Given the description of an element on the screen output the (x, y) to click on. 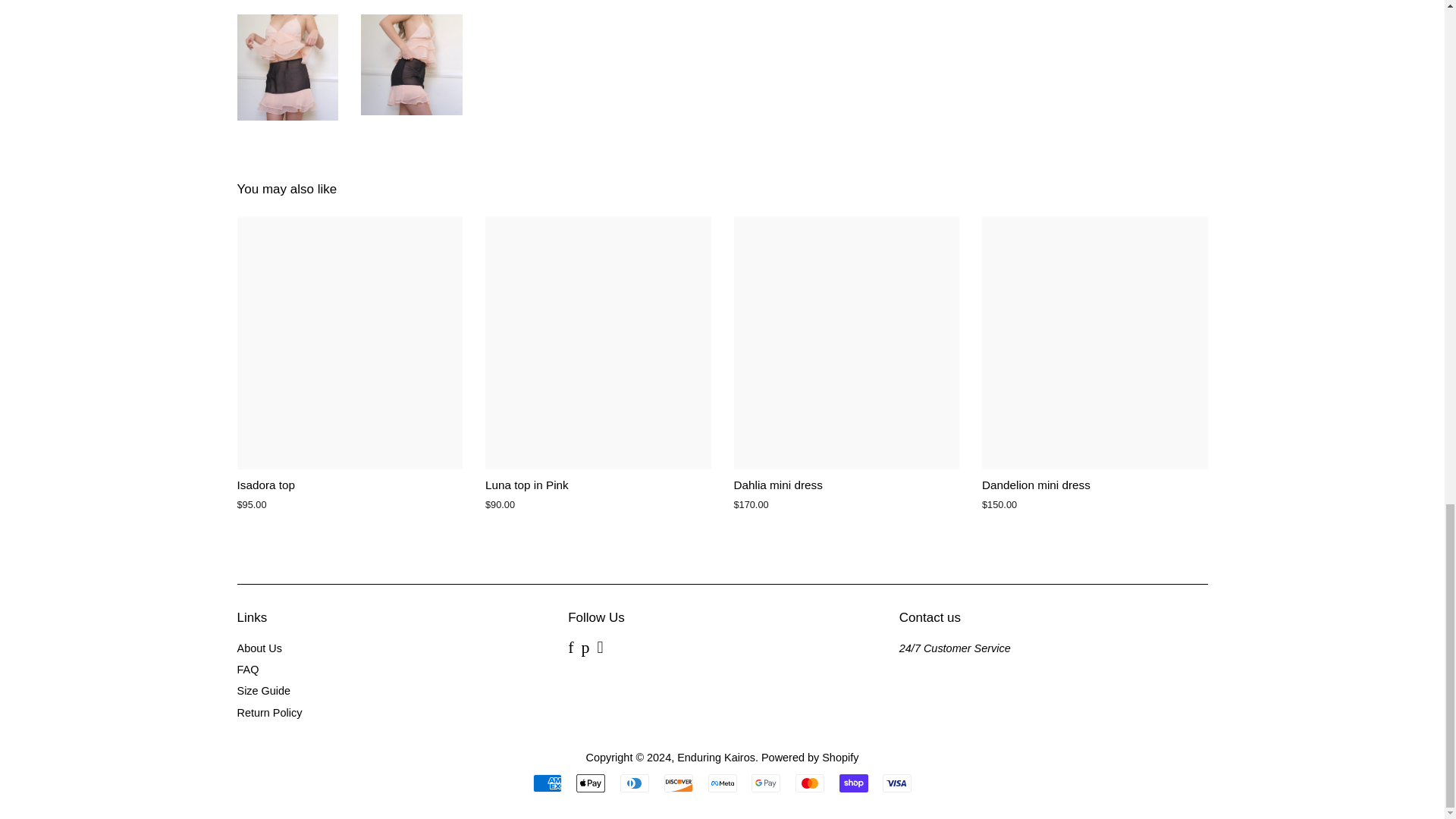
Diners Club (634, 782)
Apple Pay (590, 782)
Mastercard (809, 782)
American Express (547, 782)
Meta Pay (721, 782)
Shop Pay (853, 782)
Google Pay (765, 782)
Discover (678, 782)
Visa (896, 782)
